Given the description of an element on the screen output the (x, y) to click on. 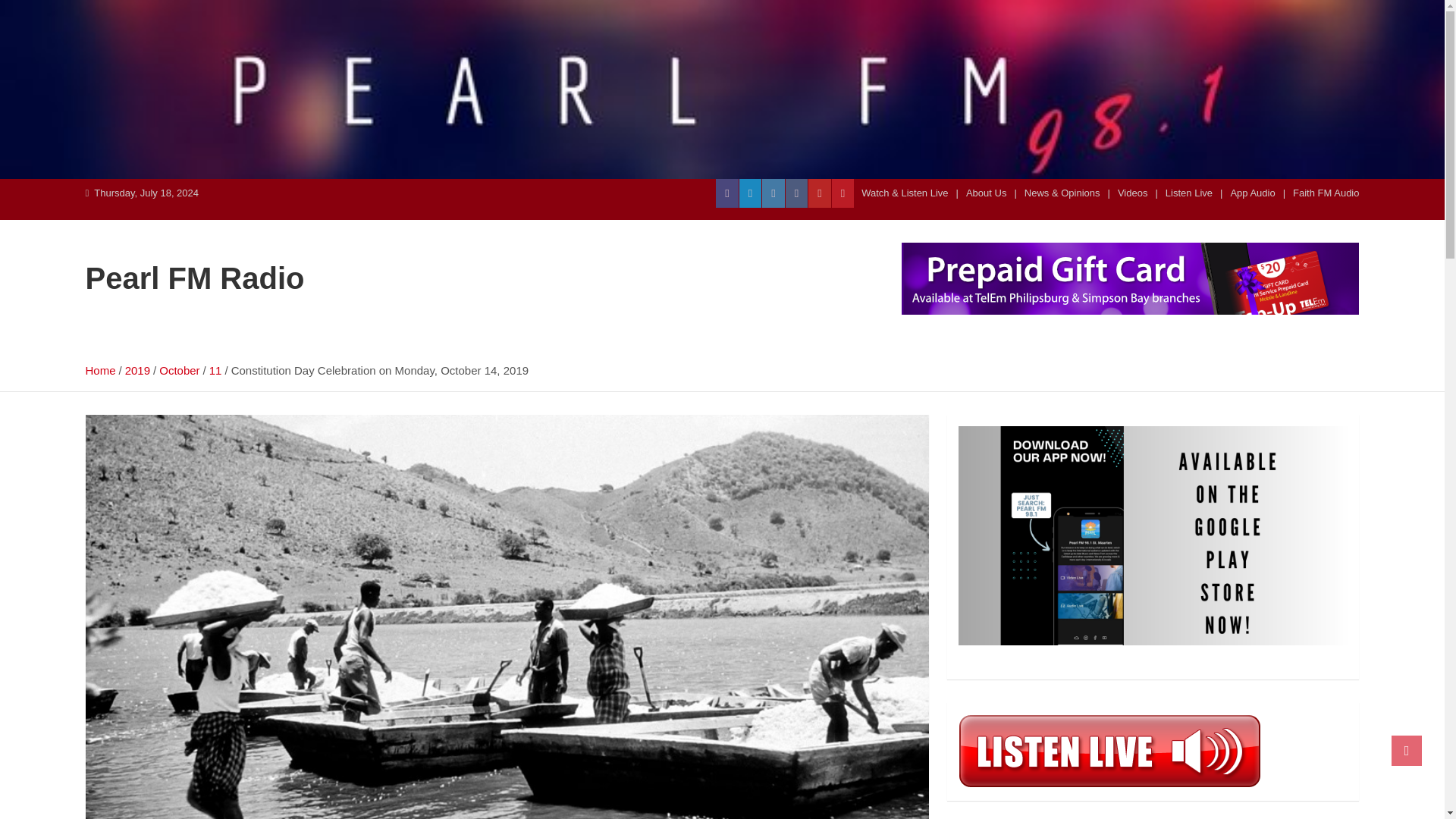
2019 (137, 369)
Listen Live (1189, 193)
App Audio (1252, 193)
About Us (986, 193)
Home (99, 369)
Videos (1133, 193)
Faith FM Audio (1325, 193)
11 (215, 369)
October (178, 369)
Go to Top (1406, 750)
Pearl FM Radio (194, 277)
